Given the description of an element on the screen output the (x, y) to click on. 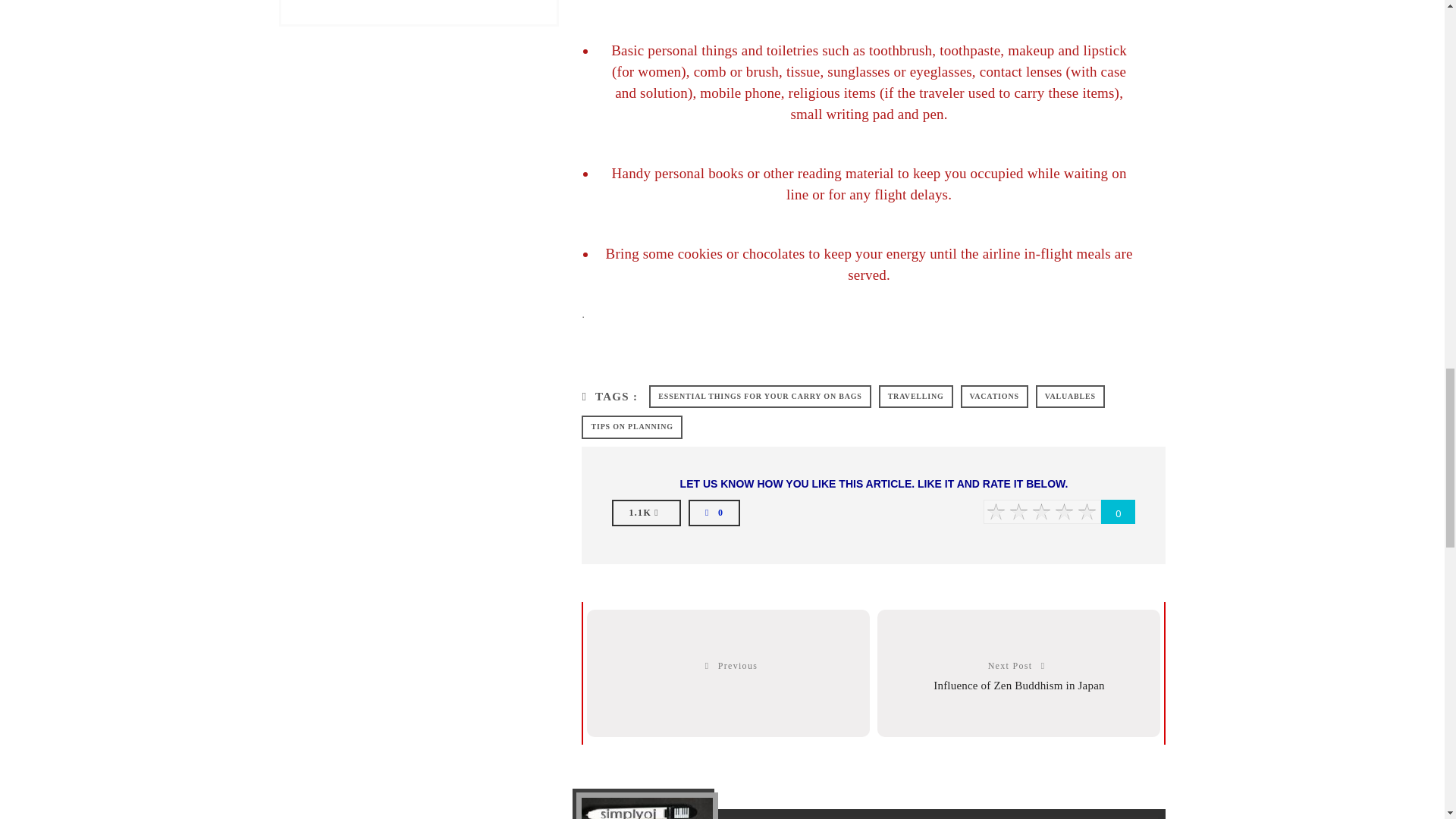
VALUABLES (1070, 395)
Influence of Zen Buddhism in Japan (1019, 685)
TRAVELLING (916, 395)
VACATIONS (993, 395)
0 (713, 511)
TIPS ON PLANNING (630, 426)
ESSENTIAL THINGS FOR YOUR CARRY ON BAGS (759, 395)
